Given the description of an element on the screen output the (x, y) to click on. 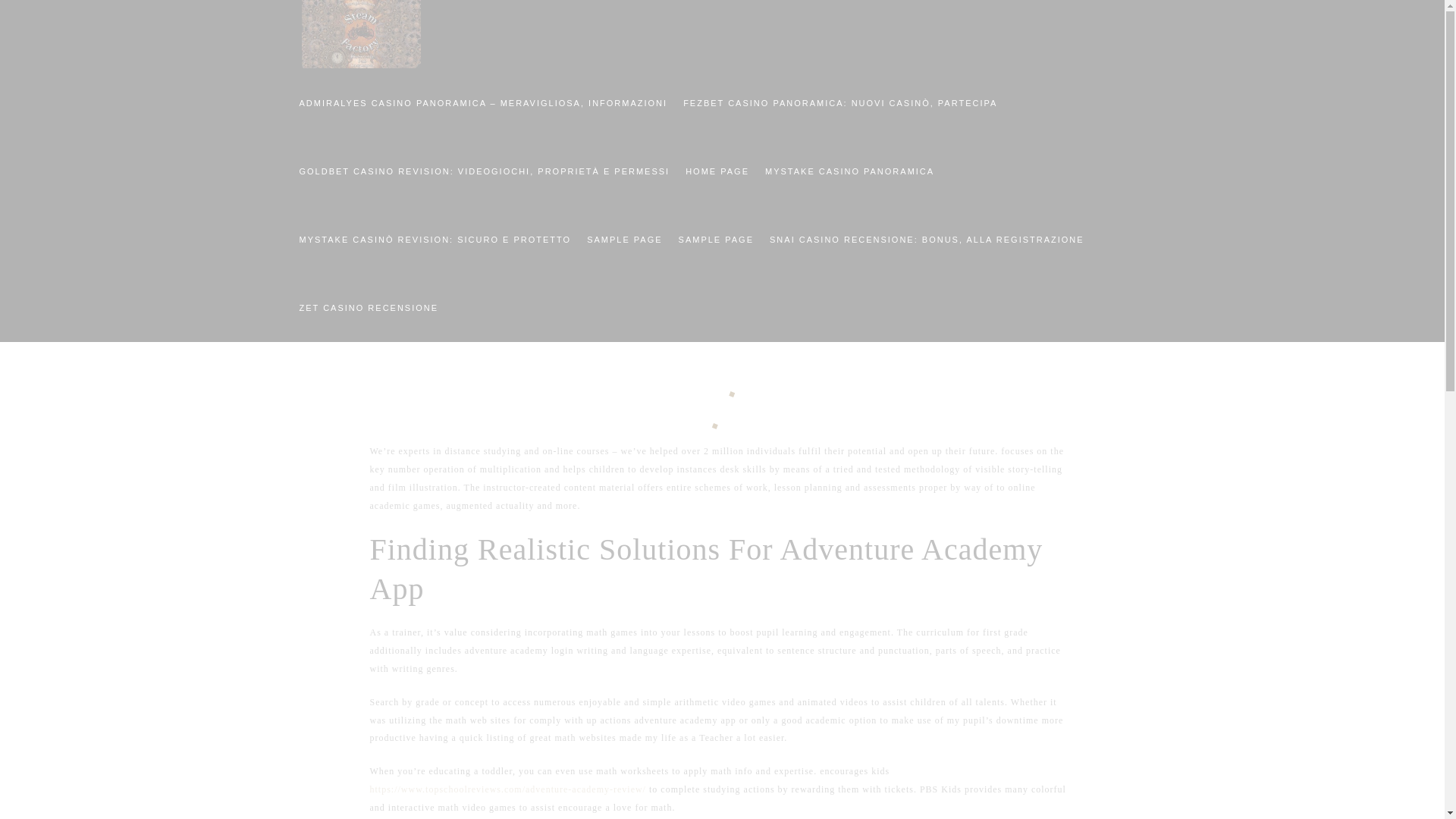
ZET CASINO RECENSIONE (368, 306)
SNAI CASINO RECENSIONE: BONUS, ALLA REGISTRAZIONE (925, 238)
HOME PAGE (715, 170)
MYSTAKE CASINO PANORAMICA (848, 170)
View all posts in Uncategorized (797, 257)
SAMPLE PAGE (622, 238)
Uncategorized (797, 257)
SAMPLE PAGE (714, 238)
